Given the description of an element on the screen output the (x, y) to click on. 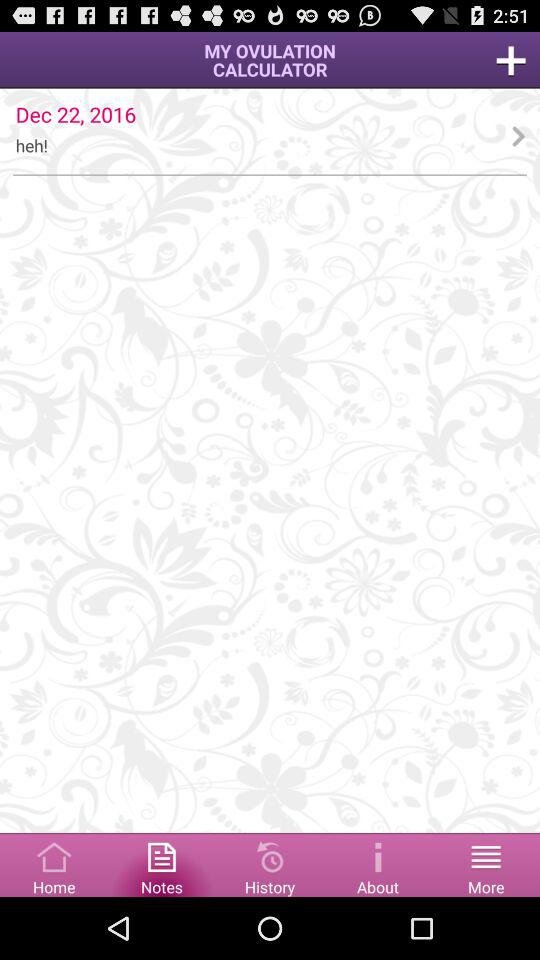
notes (162, 864)
